Given the description of an element on the screen output the (x, y) to click on. 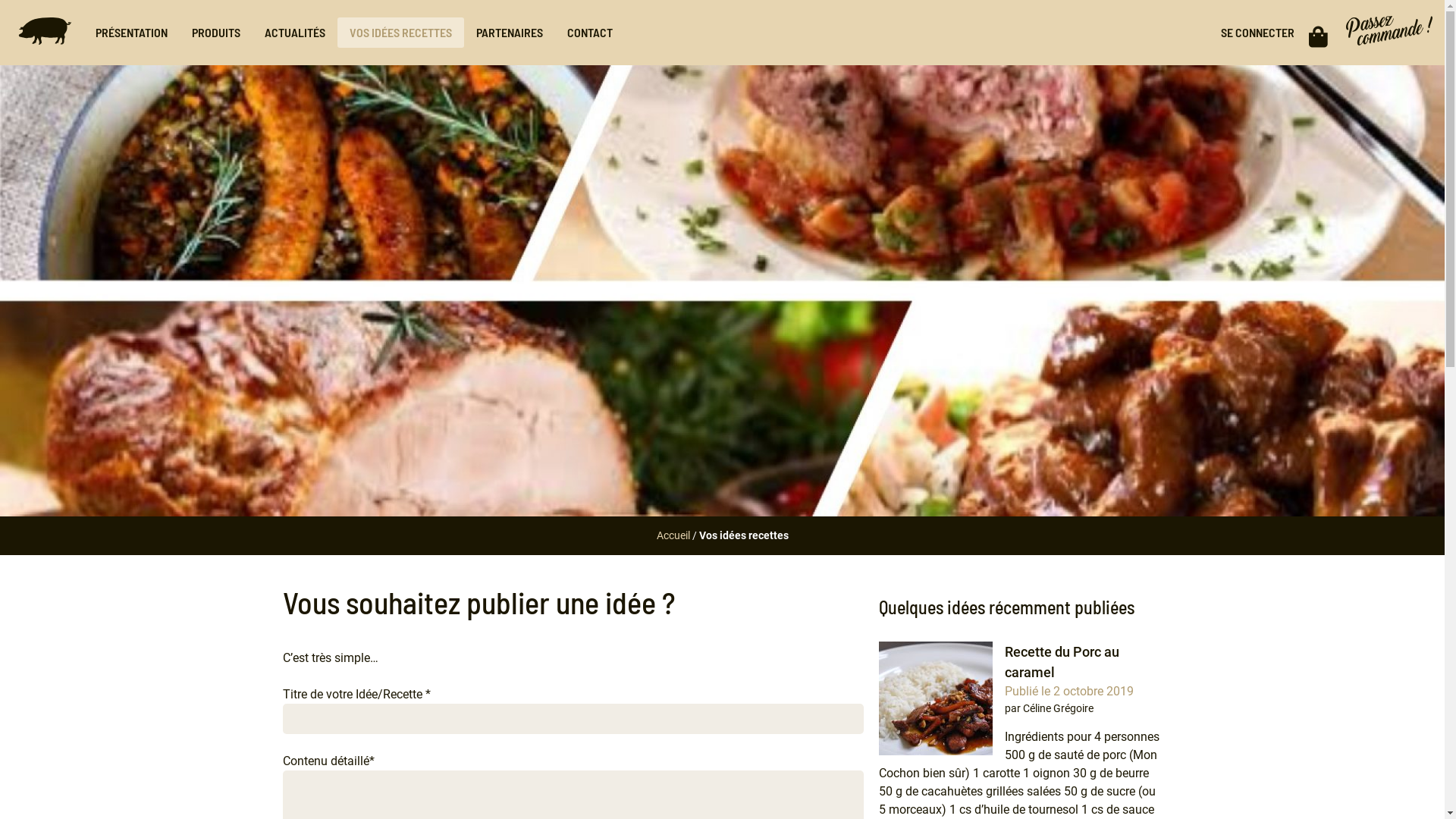
CONTACT Element type: text (589, 32)
Recette du Porc au caramel Element type: text (1061, 661)
PRODUITS Element type: text (215, 32)
Voir votre panier Element type: hover (1317, 32)
PARTENAIRES Element type: text (509, 32)
SE CONNECTER Element type: text (1257, 32)
Accueil Element type: text (673, 535)
